Given the description of an element on the screen output the (x, y) to click on. 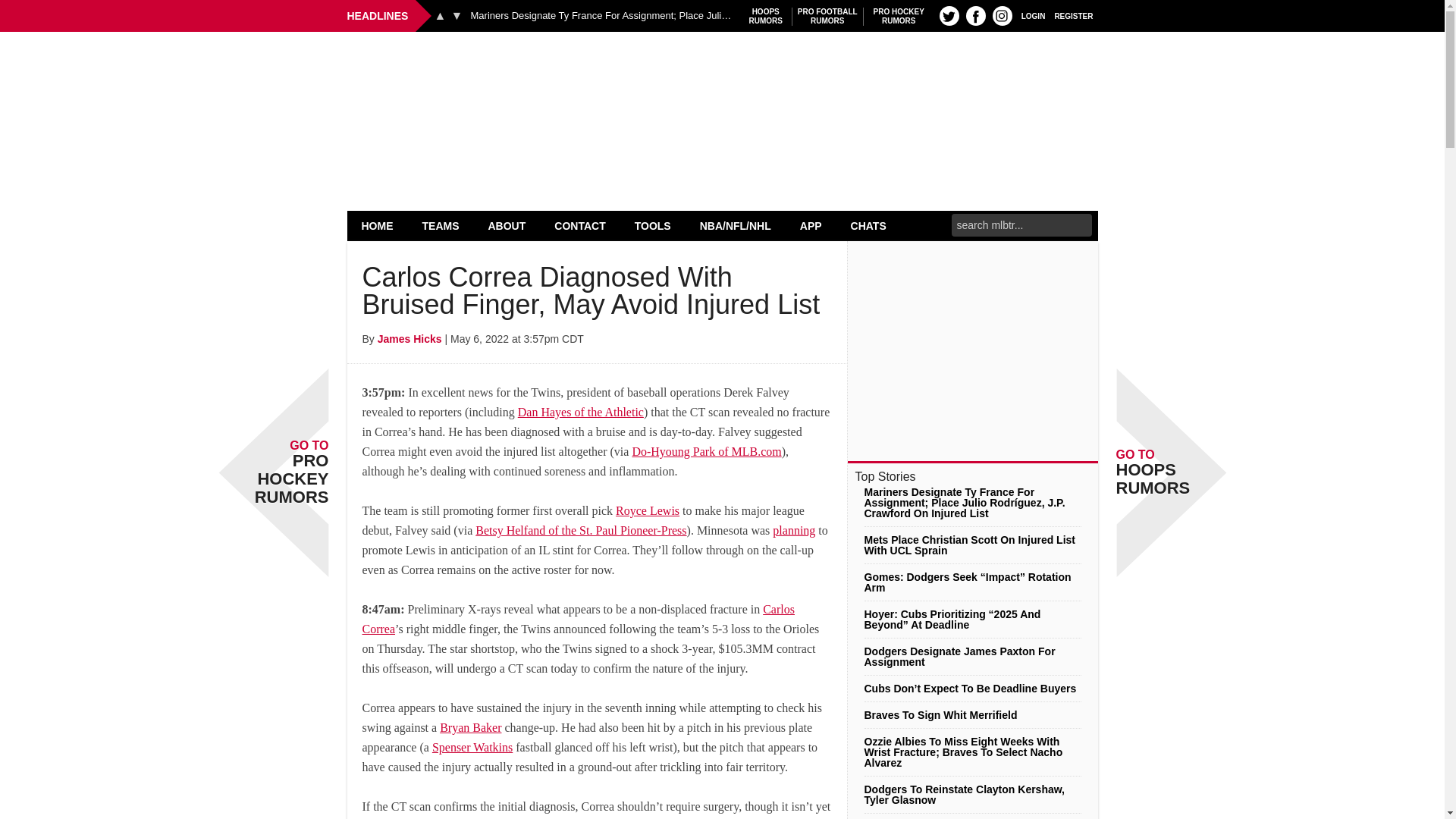
Instagram profile (1001, 15)
LOGIN (1032, 15)
FB profile (898, 16)
Twitter profile (975, 15)
REGISTER (949, 15)
HOME (1073, 15)
MLB Trade Rumors (377, 225)
Next (827, 16)
TEAMS (722, 69)
Previous (456, 15)
Search (765, 16)
